Given the description of an element on the screen output the (x, y) to click on. 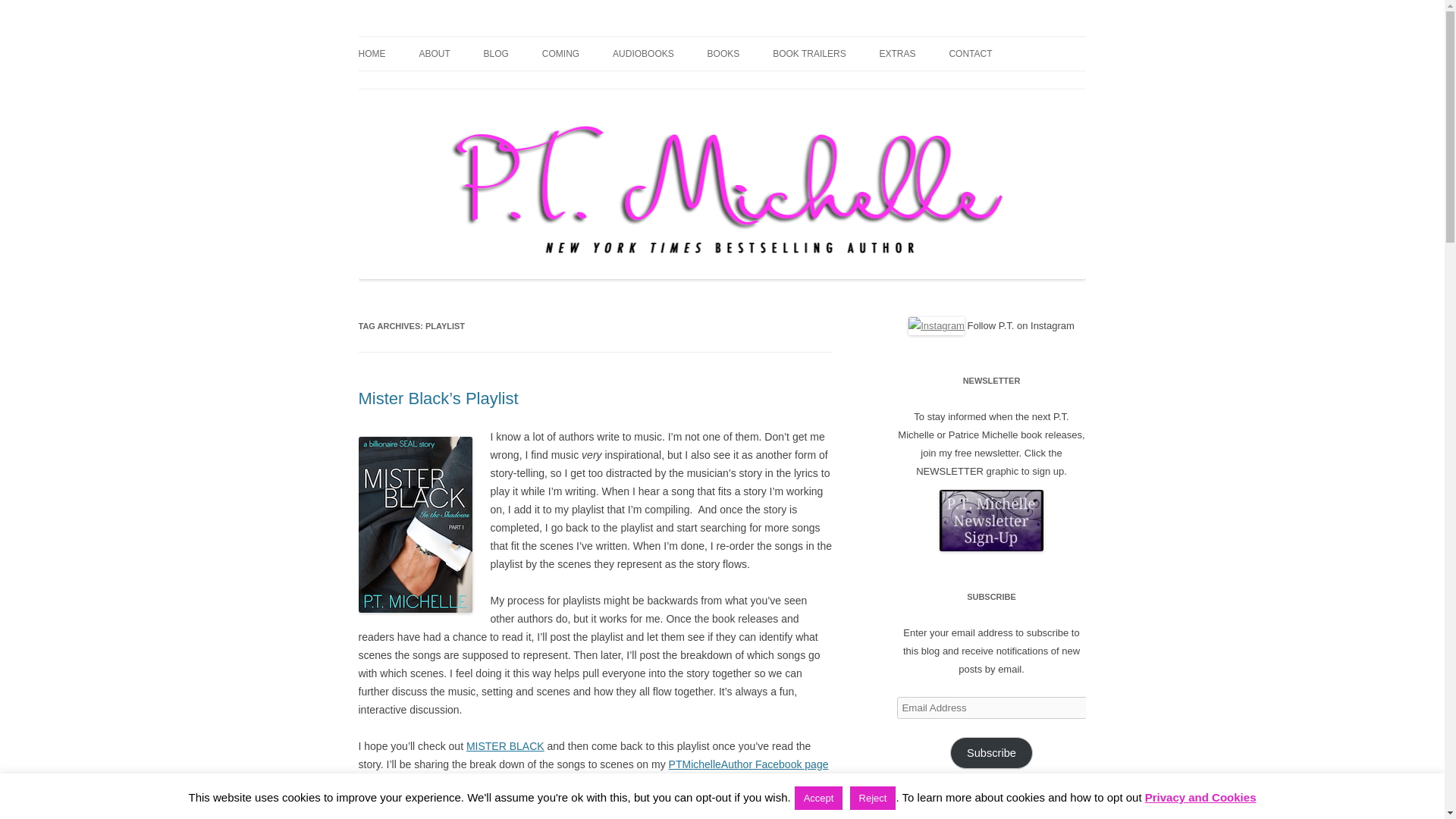
EXTRAS (897, 53)
BOOK TRAILERS (809, 53)
P.T. Michelle (414, 36)
MISTER BLACK (504, 746)
PTMichelleAuthor Facebook page (748, 764)
CONTACT (970, 53)
BIO (494, 85)
COMING (560, 53)
ABOUT (434, 53)
